Given the description of an element on the screen output the (x, y) to click on. 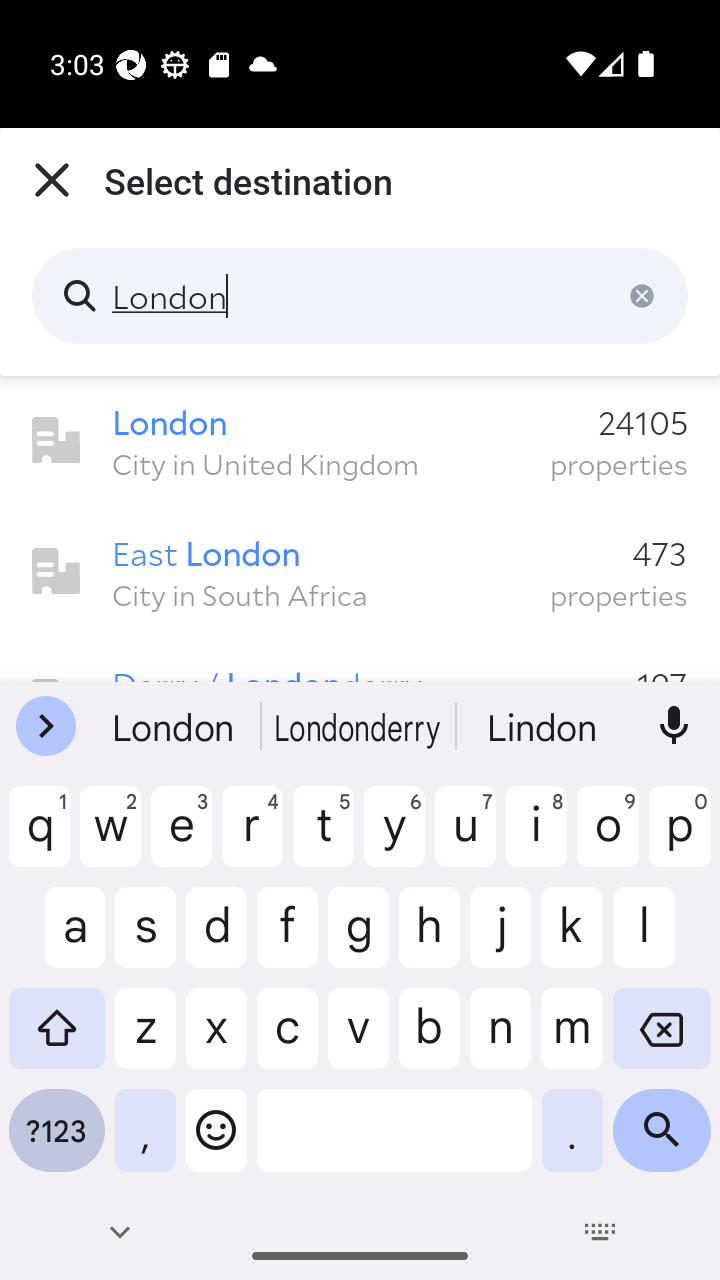
London (359, 296)
London 24105 City in United Kingdom properties (360, 441)
East London 473 City in South Africa properties (360, 571)
